Given the description of an element on the screen output the (x, y) to click on. 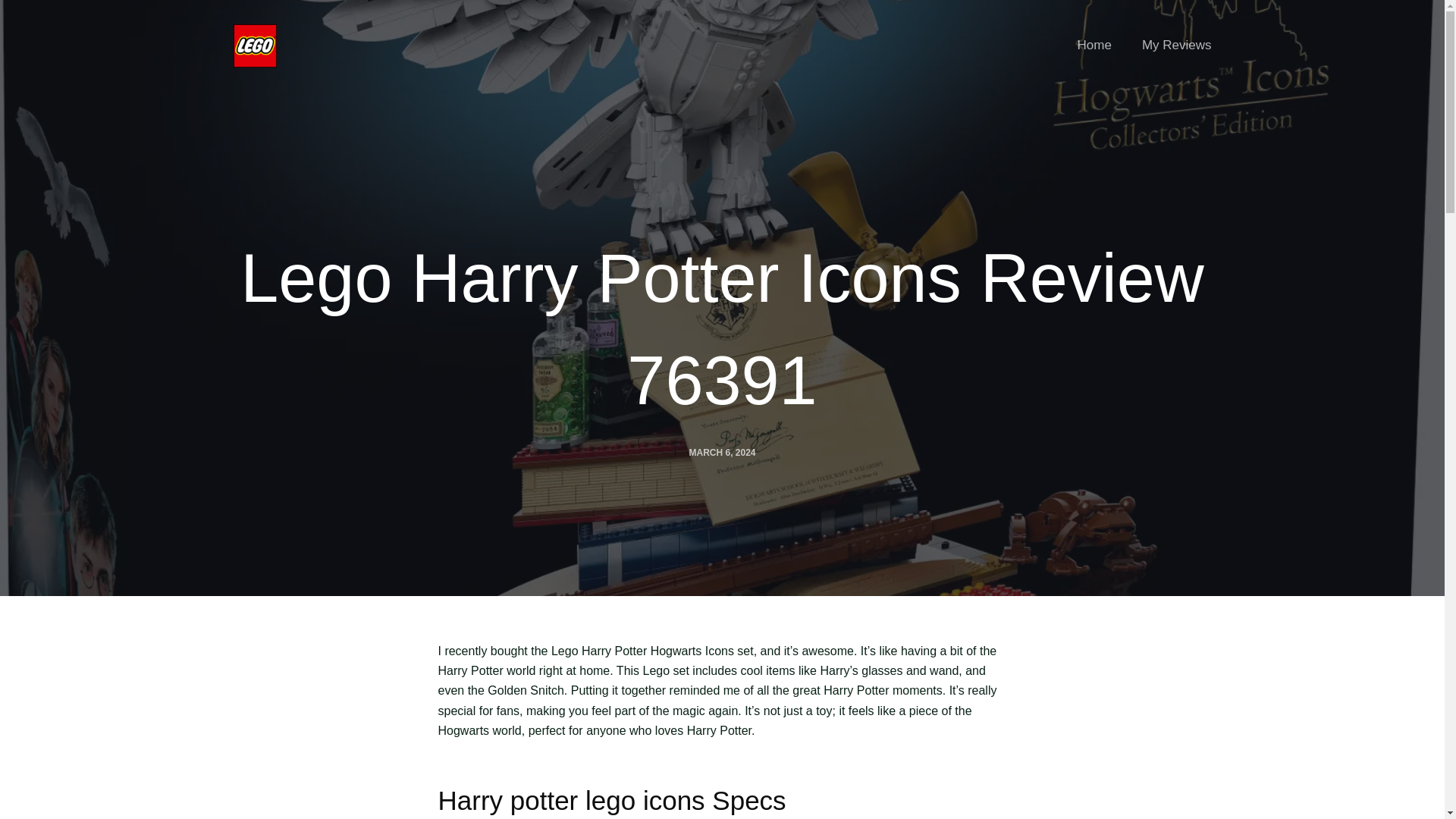
Skip to content (15, 7)
My Reviews (1168, 45)
Home (1094, 45)
